Given the description of an element on the screen output the (x, y) to click on. 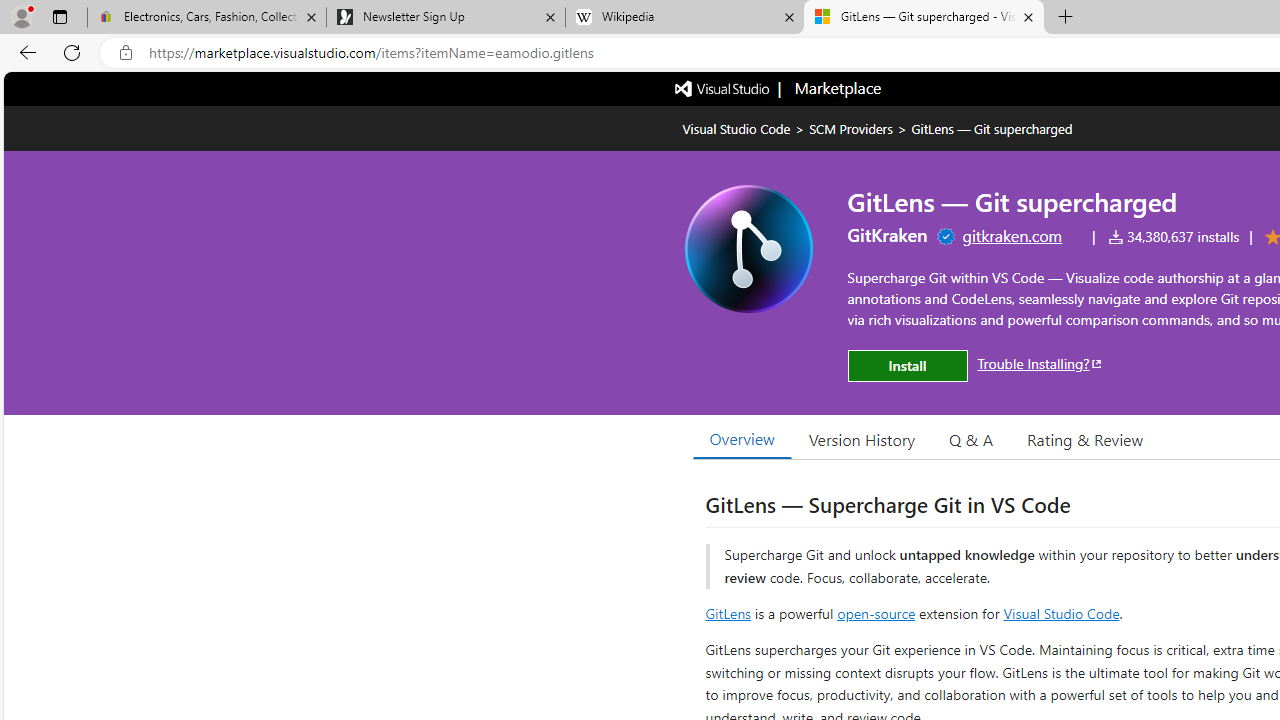
GitLens (728, 612)
Visual Studio logo Marketplace logo (776, 88)
SCM Providers (850, 128)
Wikipedia (684, 17)
open-source (876, 612)
Rating & Review (1084, 439)
Newsletter Sign Up (445, 17)
